Given the description of an element on the screen output the (x, y) to click on. 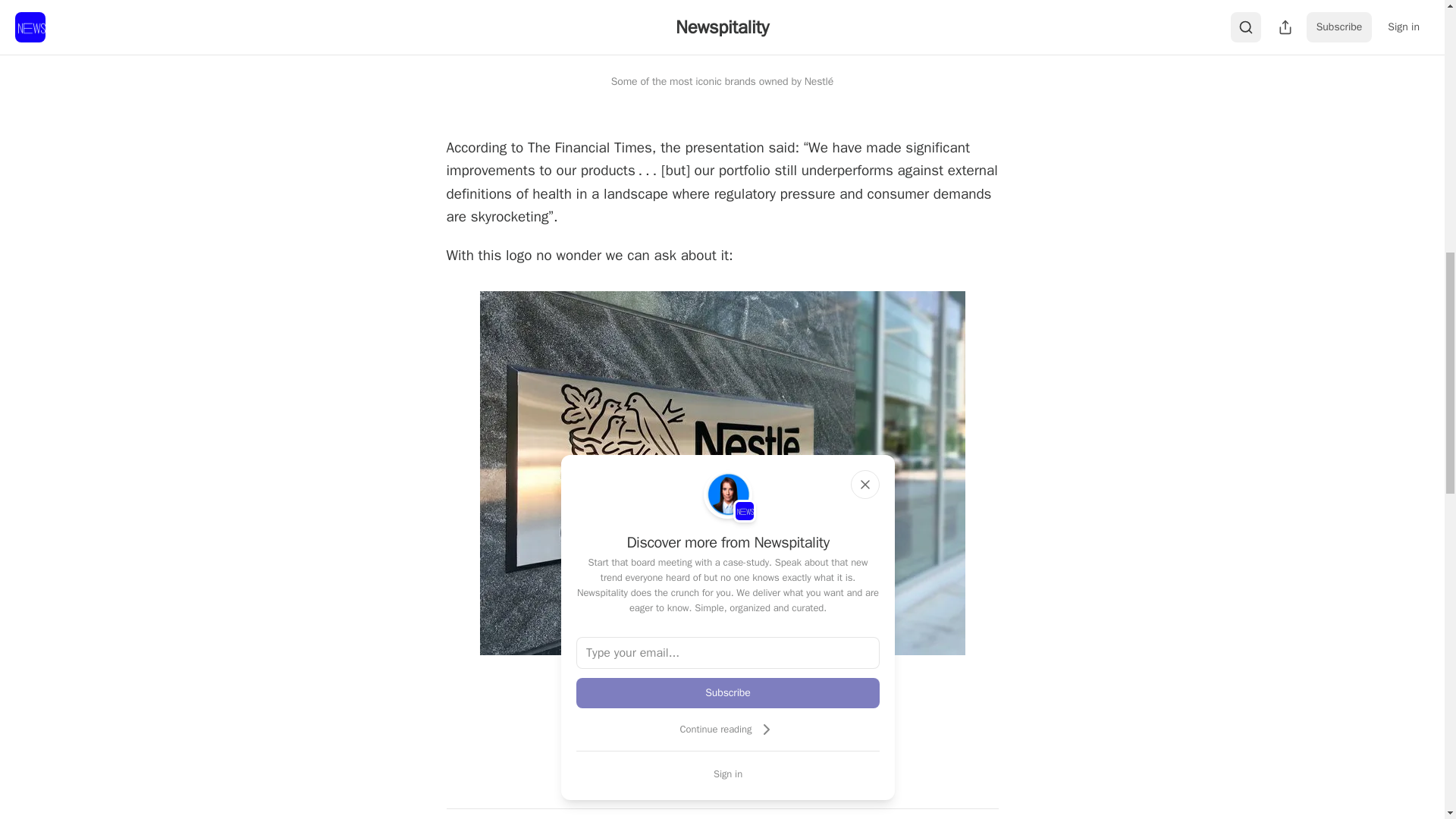
Subscribe (827, 780)
Why Nestle is one of the most hated companies in the world (721, 33)
Share (722, 734)
Sign in (727, 773)
Subscribe (727, 693)
